Given the description of an element on the screen output the (x, y) to click on. 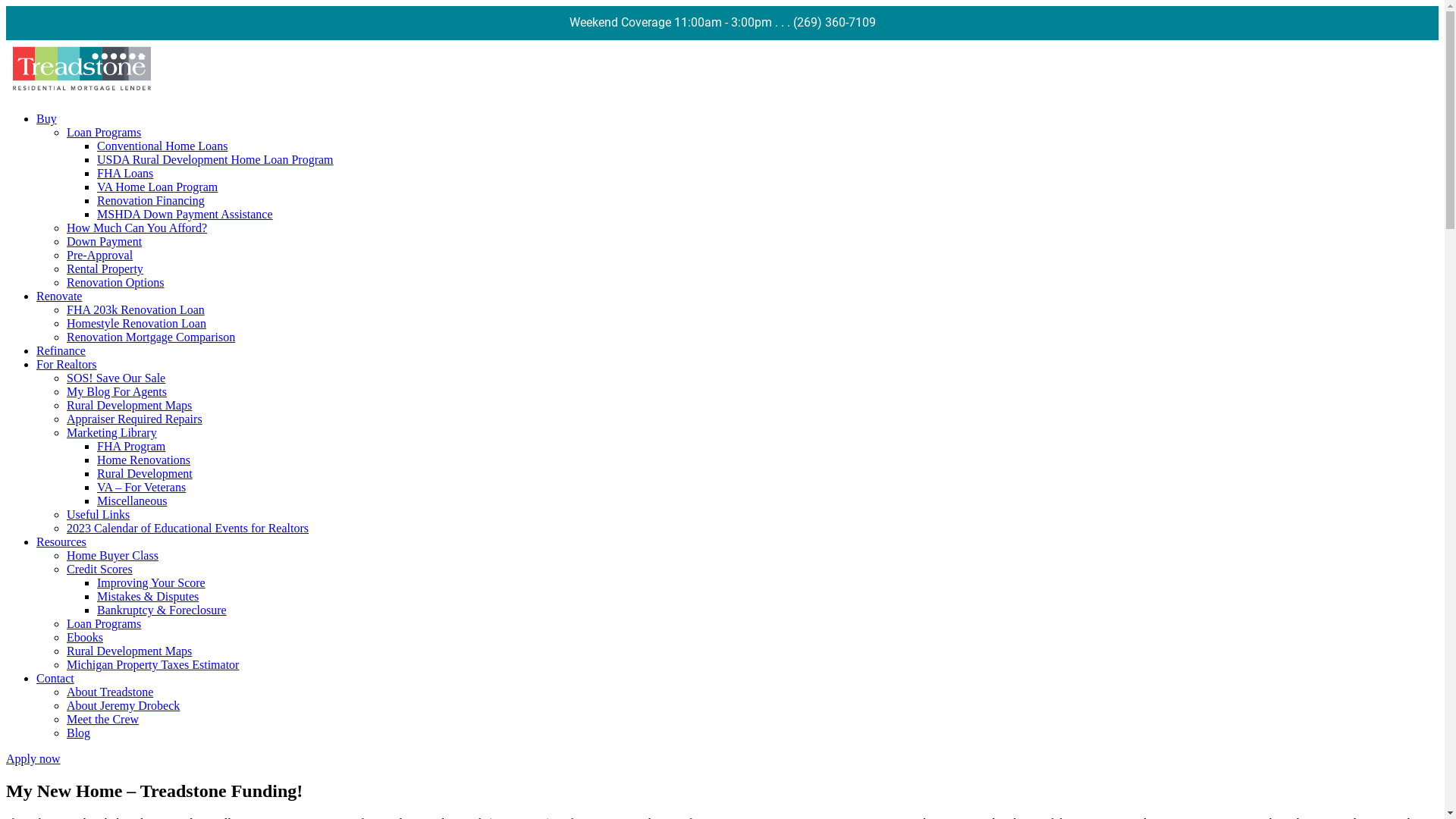
How Much Can You Afford? Element type: text (136, 227)
Mistakes & Disputes Element type: text (147, 595)
Rural Development Maps Element type: text (128, 650)
About Jeremy Drobeck Element type: text (122, 705)
About Treadstone Element type: text (109, 691)
Rural Development Maps Element type: text (128, 404)
Homestyle Renovation Loan Element type: text (136, 322)
My Blog For Agents Element type: text (116, 391)
Loan Programs Element type: text (103, 131)
Meet the Crew Element type: text (102, 718)
Contact Element type: text (55, 677)
FHA Program Element type: text (131, 445)
Resources Element type: text (61, 541)
Blog Element type: text (78, 732)
USDA Rural Development Home Loan Program Element type: text (215, 159)
Marketing Library Element type: text (111, 432)
FHA 203k Renovation Loan Element type: text (135, 309)
Rental Property Element type: text (104, 268)
Michigan Property Taxes Estimator Element type: text (152, 664)
Pre-Approval Element type: text (99, 254)
Renovate Element type: text (58, 295)
Miscellaneous Element type: text (131, 500)
Conventional Home Loans Element type: text (162, 145)
SOS! Save Our Sale Element type: text (115, 377)
For Realtors Element type: text (66, 363)
Bankruptcy & Foreclosure Element type: text (161, 609)
Renovation Options Element type: text (114, 282)
Home Renovations Element type: text (143, 459)
FHA Loans Element type: text (125, 172)
Appraiser Required Repairs Element type: text (134, 418)
VA Home Loan Program Element type: text (157, 186)
Loan Programs Element type: text (103, 623)
Rural Development Element type: text (144, 473)
2023 Calendar of Educational Events for Realtors Element type: text (187, 527)
MSHDA Down Payment Assistance Element type: text (185, 213)
Credit Scores Element type: text (99, 568)
Renovation Financing Element type: text (150, 200)
Renovation Mortgage Comparison Element type: text (150, 336)
Useful Links Element type: text (97, 514)
Home Buyer Class Element type: text (112, 555)
Apply now Element type: text (33, 758)
Buy Element type: text (46, 118)
Refinance Element type: text (60, 350)
Improving Your Score Element type: text (151, 582)
Down Payment Element type: text (103, 241)
Ebooks Element type: text (84, 636)
